Given the description of an element on the screen output the (x, y) to click on. 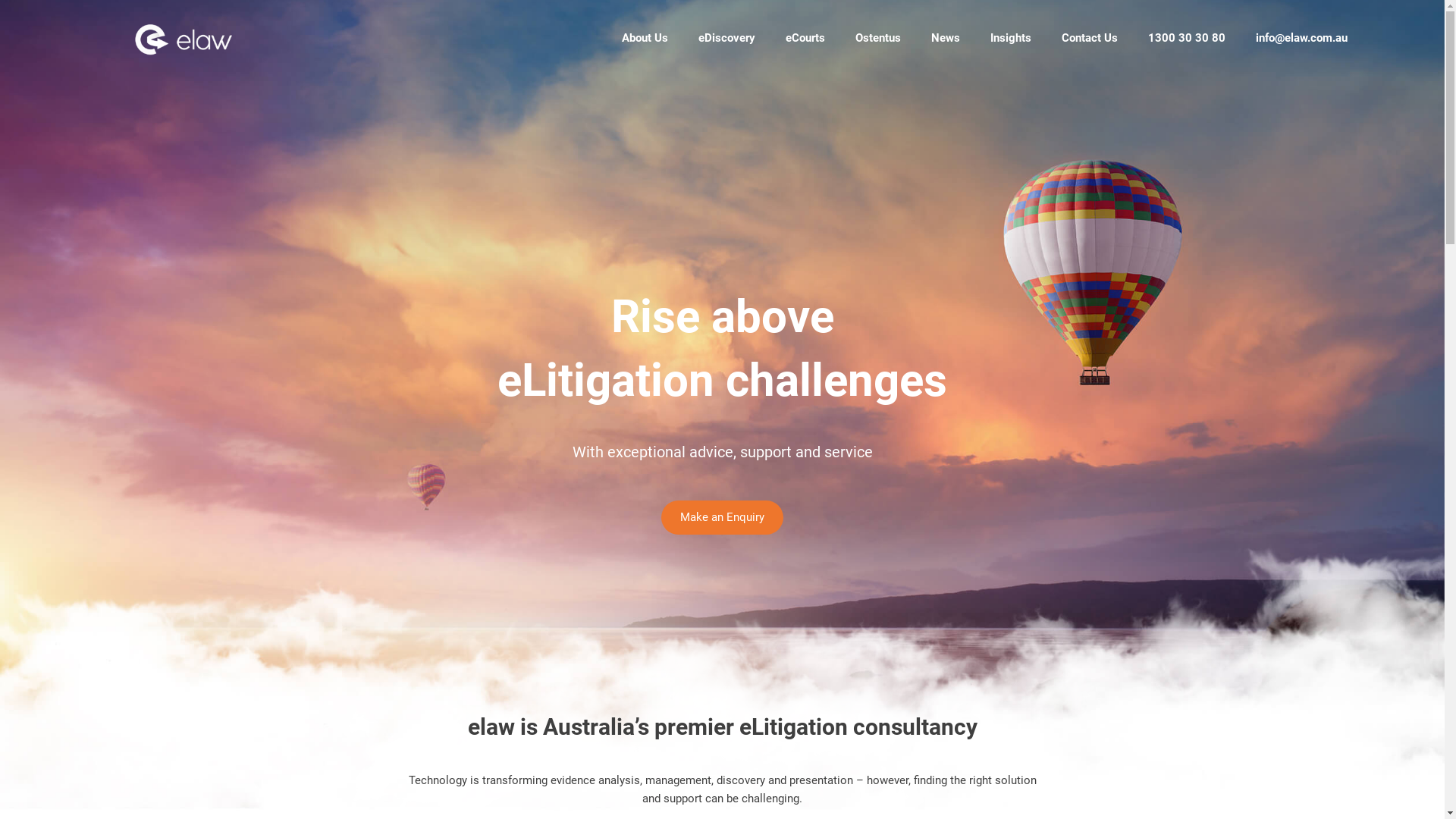
Contact Us Element type: text (1089, 37)
Skip to content Element type: text (0, 0)
Ostentus Element type: text (878, 37)
1300 30 30 80 Element type: text (1186, 37)
eCourts Element type: text (805, 37)
Insights Element type: text (1010, 37)
info@elaw.com.au Element type: text (1301, 37)
eDiscovery Element type: text (726, 37)
Make an Enquiry Element type: text (722, 517)
About Us Element type: text (644, 37)
News Element type: text (945, 37)
